Given the description of an element on the screen output the (x, y) to click on. 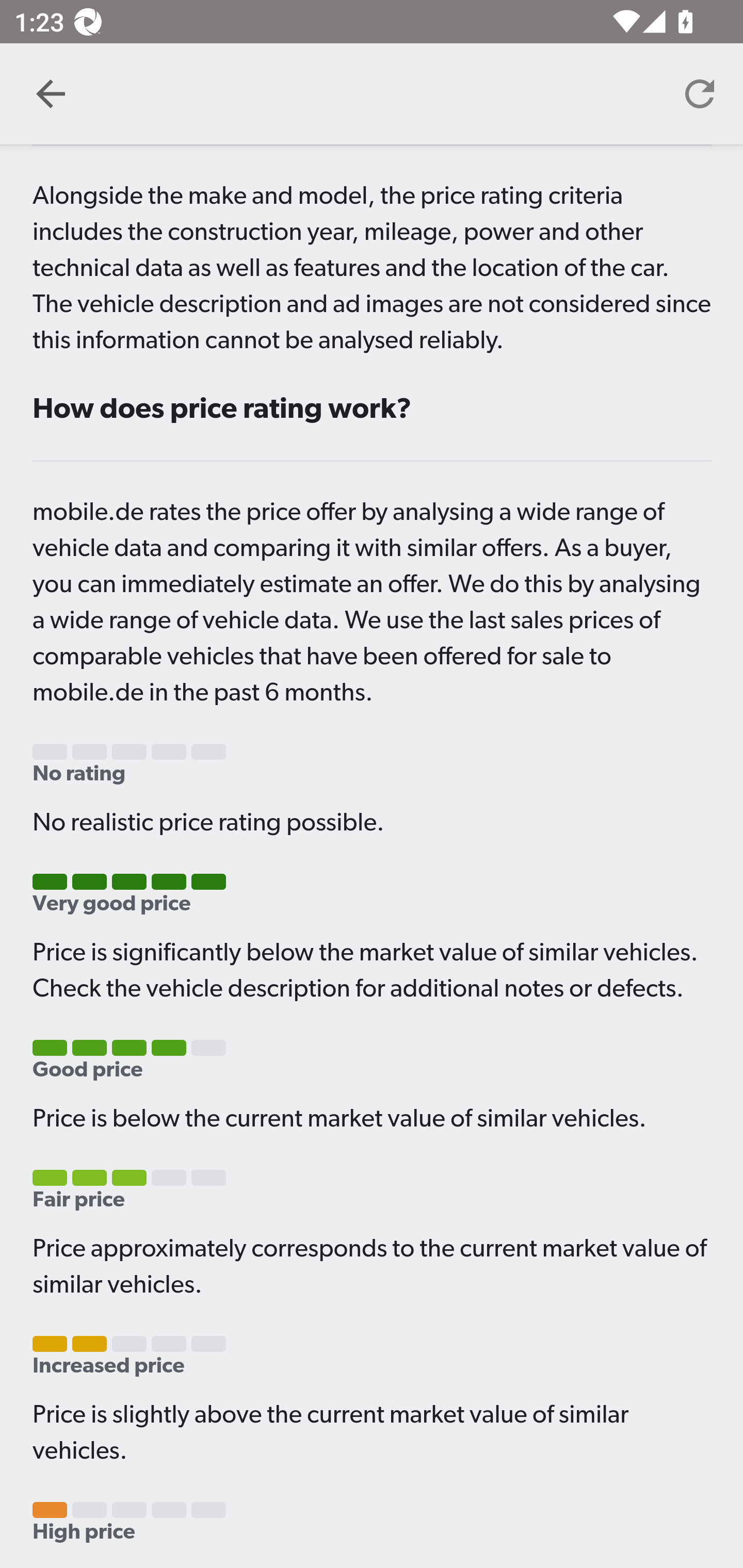
Navigate up (50, 93)
synchronize (699, 93)
